Given the description of an element on the screen output the (x, y) to click on. 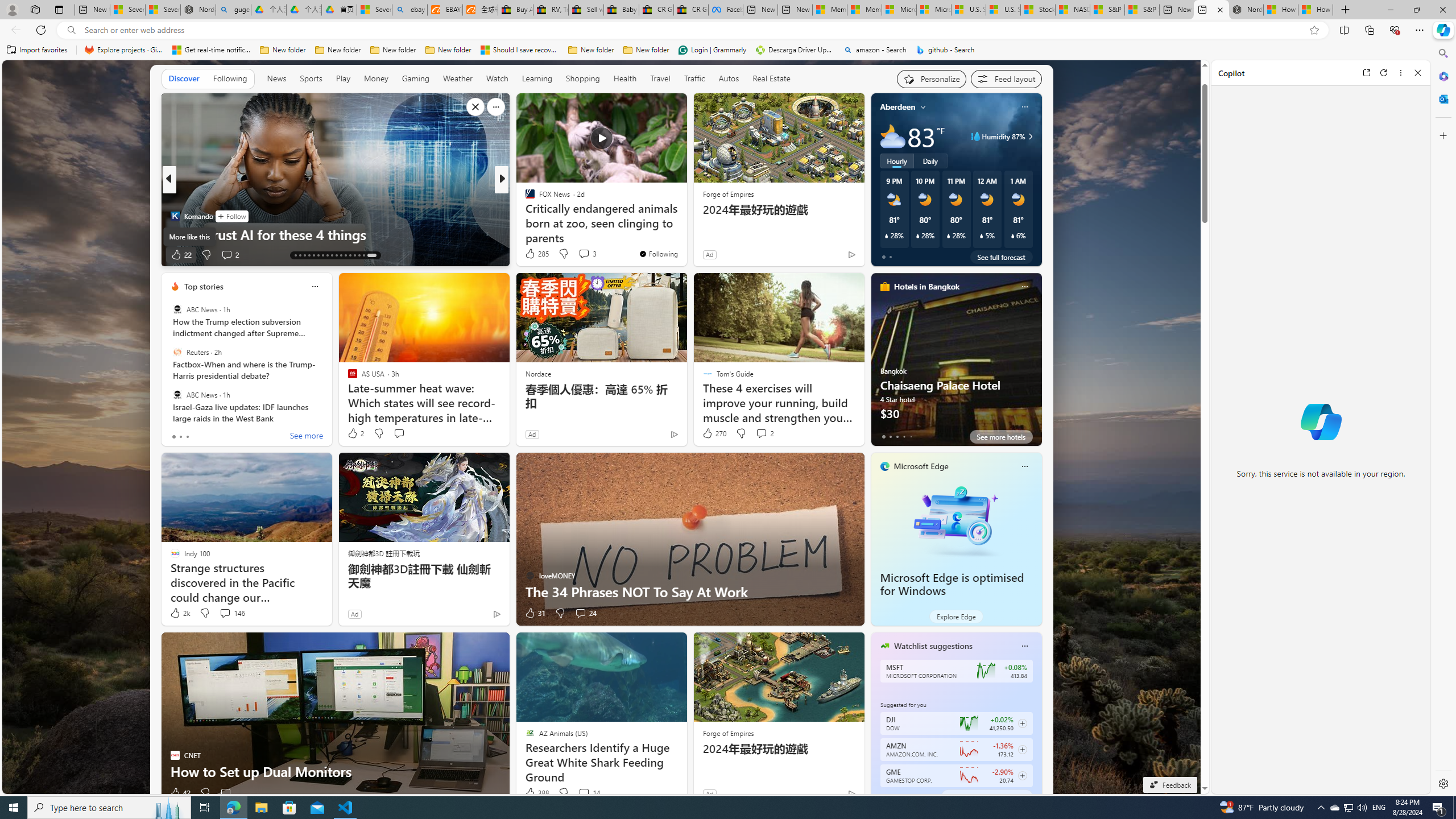
Microsoft 365 (1442, 76)
31 Like (534, 612)
270 Like (713, 433)
Learning (536, 78)
Ad (708, 793)
AutomationID: tab-25 (349, 255)
Daily (929, 160)
AutomationID: tab-13 (295, 255)
View comments 2 Comment (764, 433)
tab-2 (897, 795)
